Given the description of an element on the screen output the (x, y) to click on. 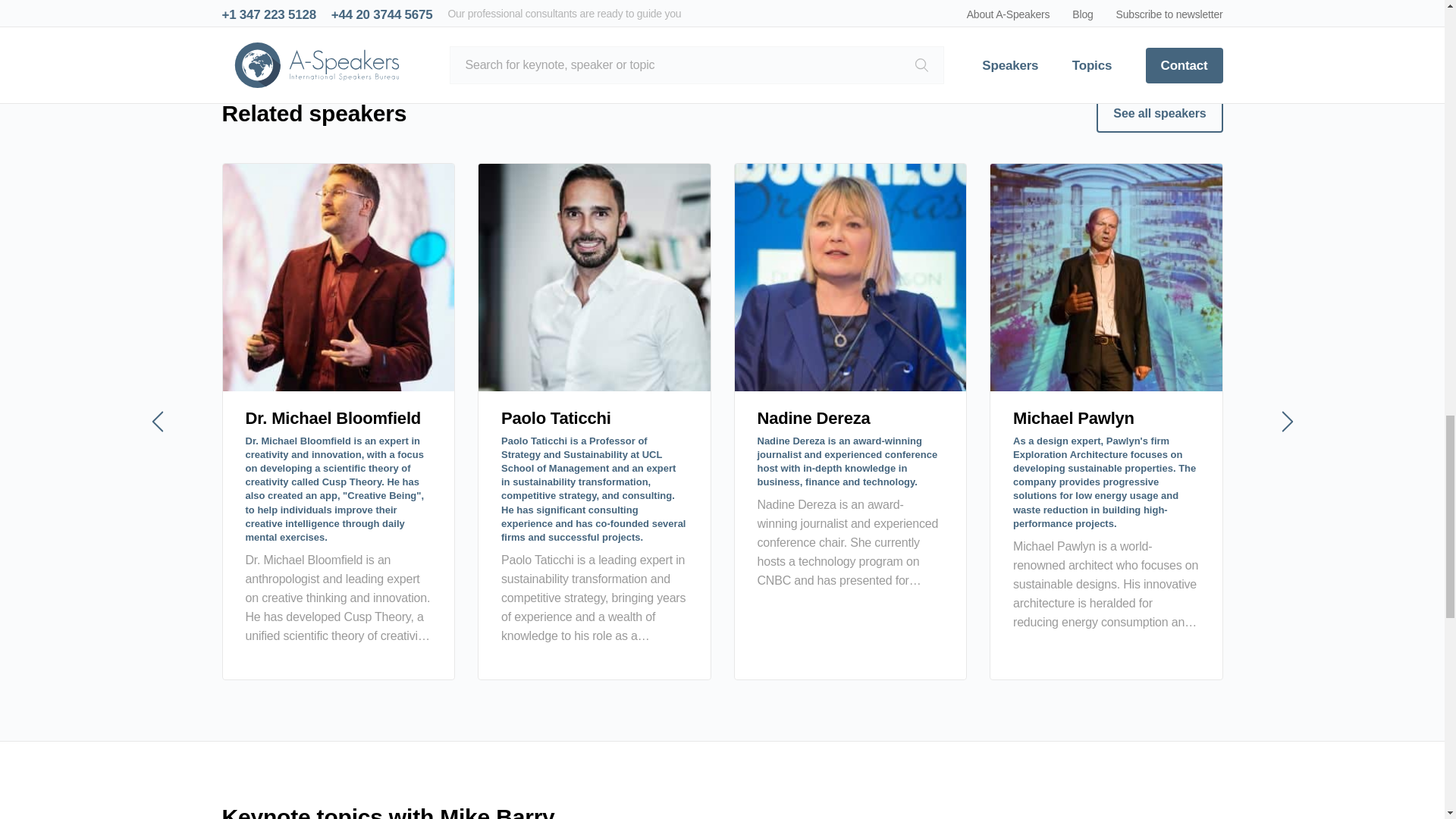
See all speakers (1159, 113)
